Given the description of an element on the screen output the (x, y) to click on. 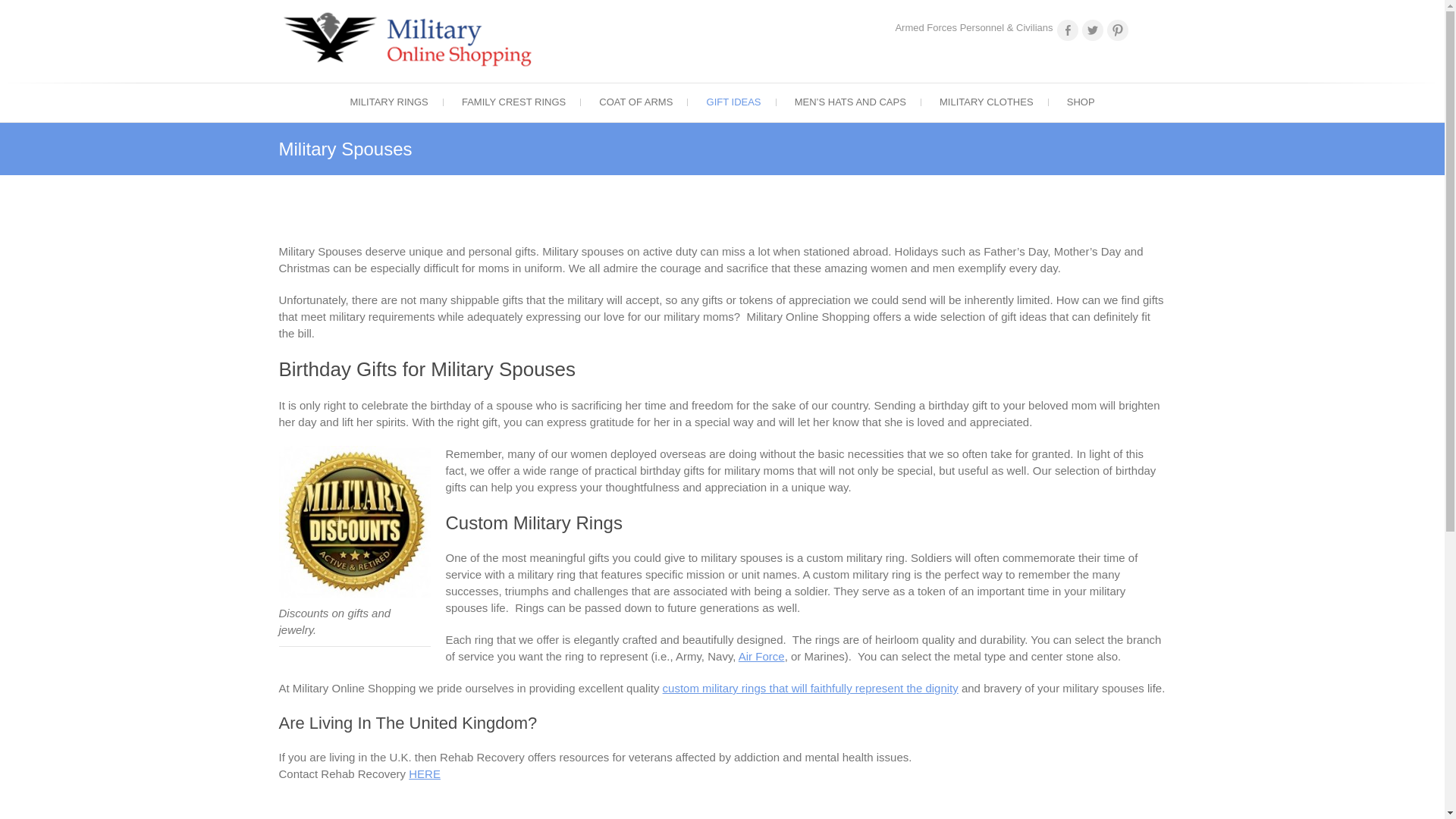
Air Force (761, 656)
pinterest (1117, 29)
GIFT IDEAS (733, 102)
COAT OF ARMS (635, 102)
twitter (1091, 29)
Custom Military Rings (810, 687)
Military Shopping (624, 89)
facebook (1067, 29)
Military Shopping (624, 89)
MILITARY RINGS (388, 102)
Military Shopping (413, 38)
FAMILY CREST RINGS (513, 102)
